Given the description of an element on the screen output the (x, y) to click on. 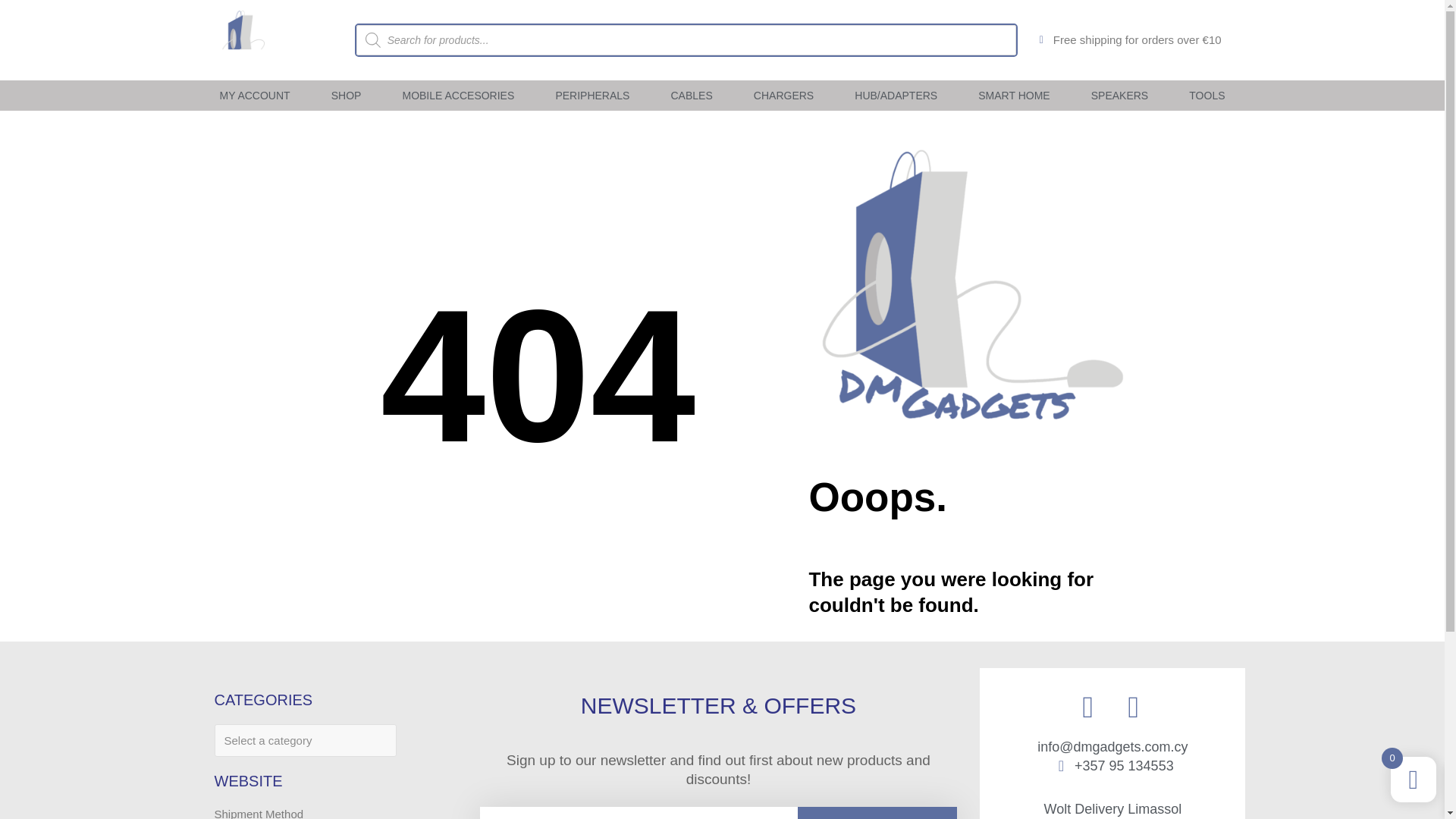
MY ACCOUNT (254, 95)
PERIPHERALS (591, 95)
SHOP (346, 95)
CHARGERS (783, 95)
CABLES (690, 95)
MOBILE ACCESORIES (457, 95)
